Given the description of an element on the screen output the (x, y) to click on. 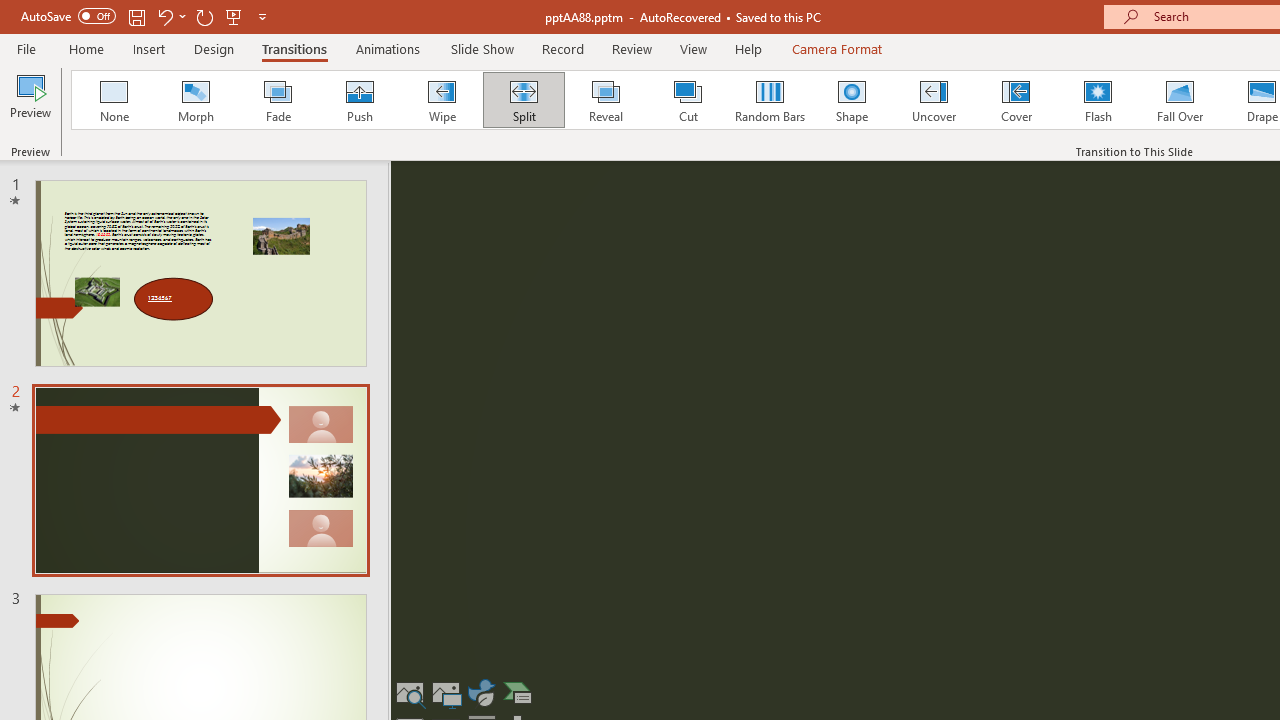
Insert a SmartArt Graphic (517, 692)
None (113, 100)
Random Bars (770, 100)
Preview (30, 102)
Camera Format (836, 48)
Cut (687, 100)
Uncover (934, 100)
Flash (1098, 100)
